Given the description of an element on the screen output the (x, y) to click on. 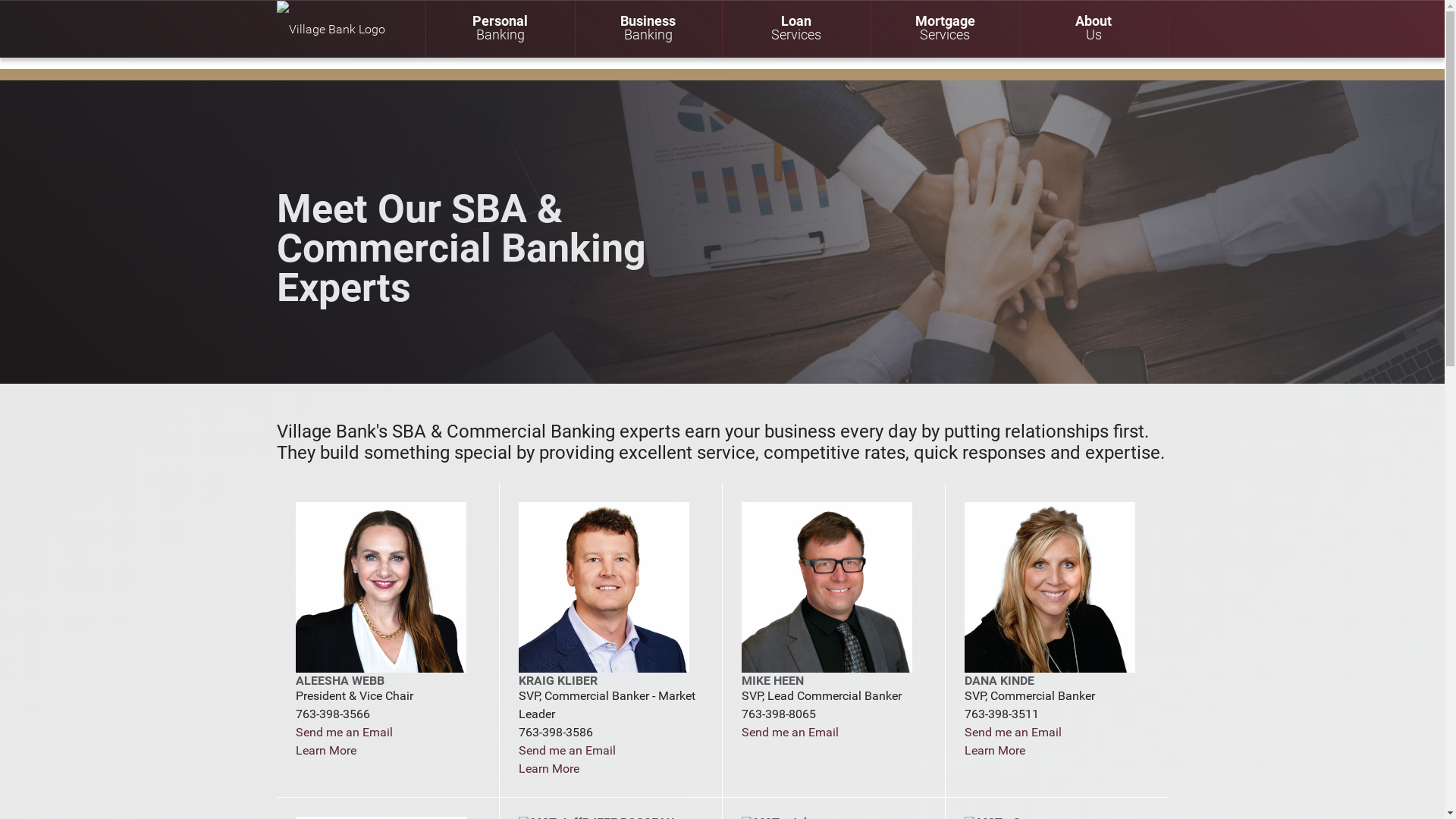
Send me an Email Element type: text (566, 750)
Learn More Element type: text (548, 768)
Send me an Email Element type: text (789, 731)
Send me an Email Element type: text (1012, 731)
Learn More Element type: text (994, 750)
Send me an Email Element type: text (343, 731)
Learn More Element type: text (325, 750)
